Given the description of an element on the screen output the (x, y) to click on. 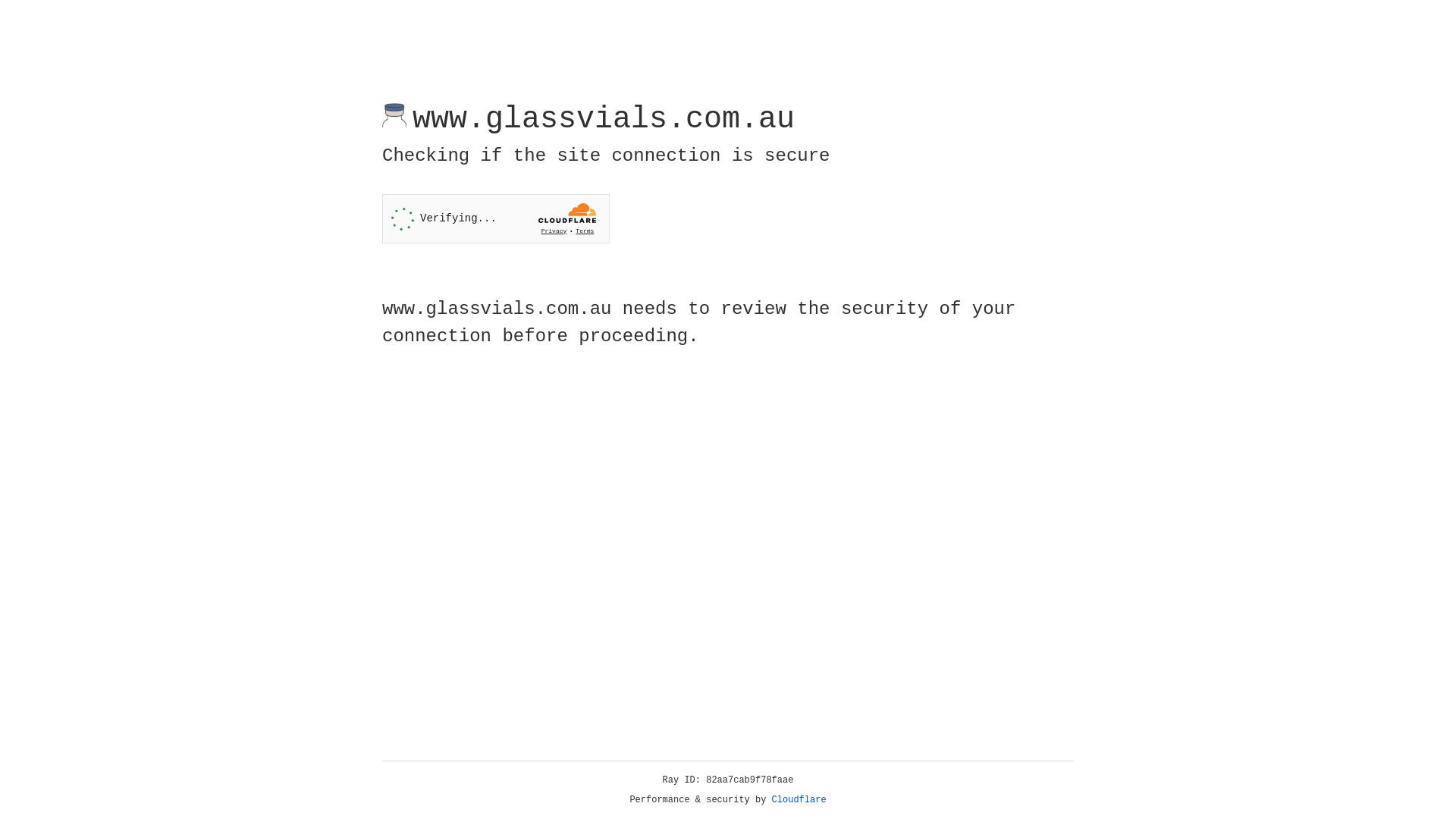
Widget containing a Cloudflare security challenge Element type: hover (495, 218)
Cloudflare Element type: text (798, 799)
